Given the description of an element on the screen output the (x, y) to click on. 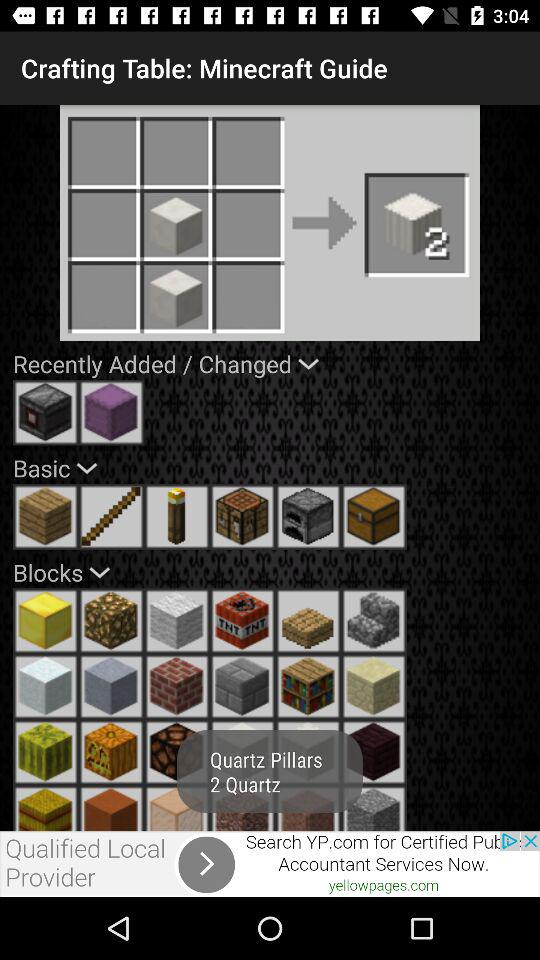
item in item list (373, 621)
